Given the description of an element on the screen output the (x, y) to click on. 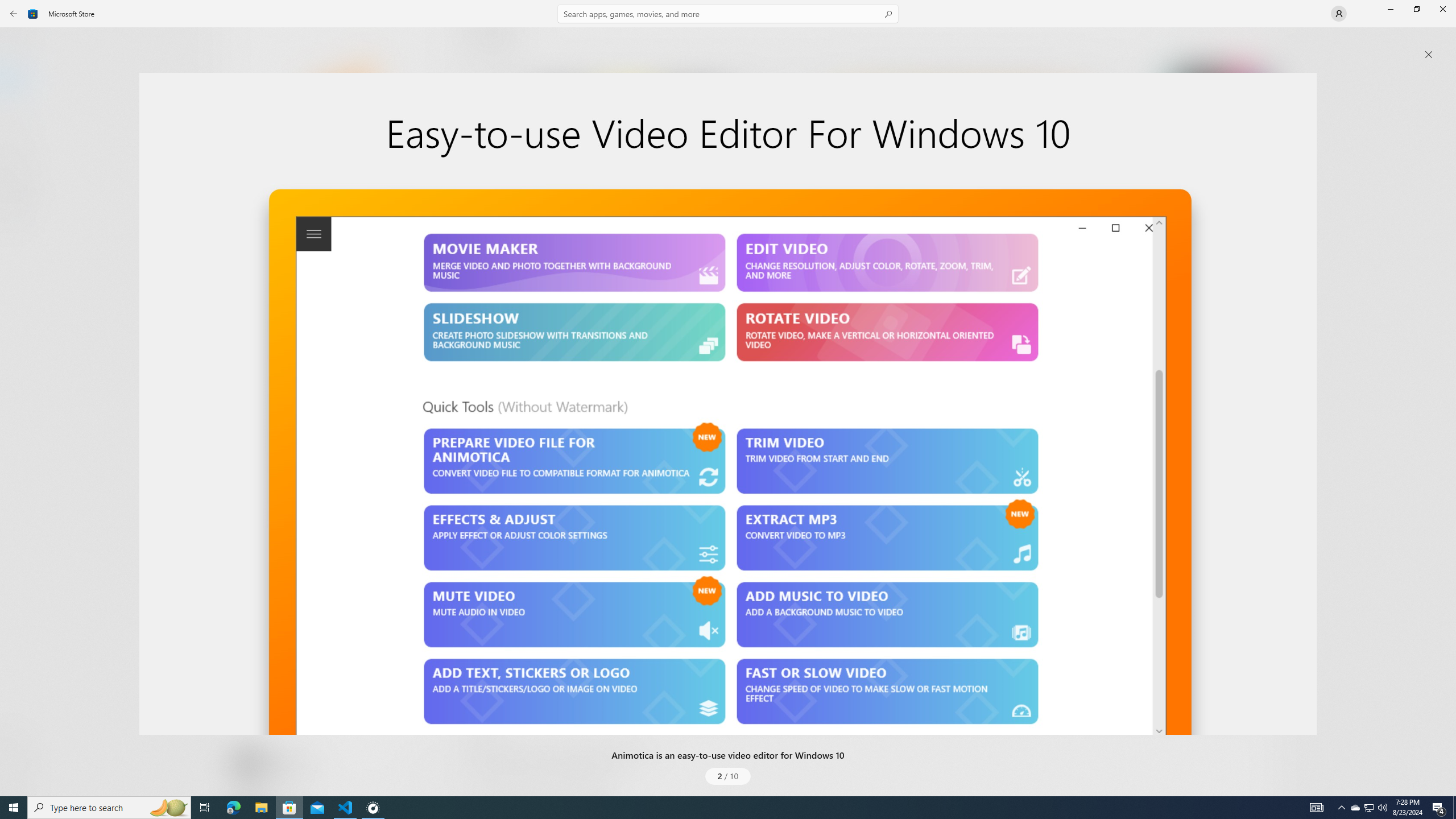
Trim, Split, Join Video and Photo in Animotica (1201, 158)
Welcome to Animotica (624, 158)
Close Microsoft Store (1442, 9)
Share (424, 769)
4.3 stars. Click to skip to ratings and reviews (307, 315)
Back (13, 13)
Entertainment (20, 185)
Animotica is an easy-to-use video editor for Windows 10 (727, 403)
close popup window (1428, 54)
Show more (485, 426)
What's New (20, 738)
Search (727, 13)
Age rating: EVERYONE. Click for more information. (287, 762)
Restore Microsoft Store (1416, 9)
AI Hub (20, 221)
